Given the description of an element on the screen output the (x, y) to click on. 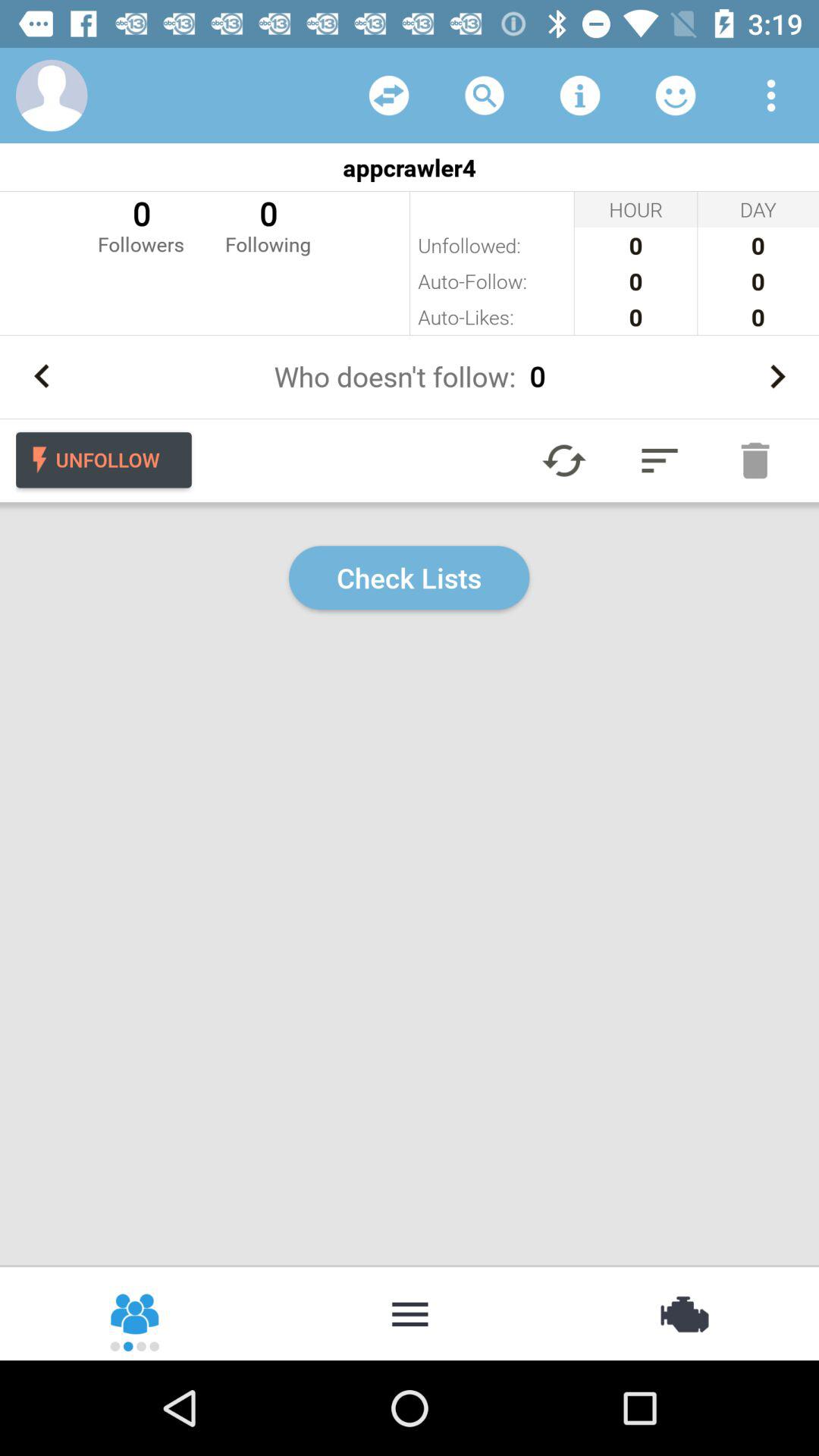
friend list (675, 95)
